Given the description of an element on the screen output the (x, y) to click on. 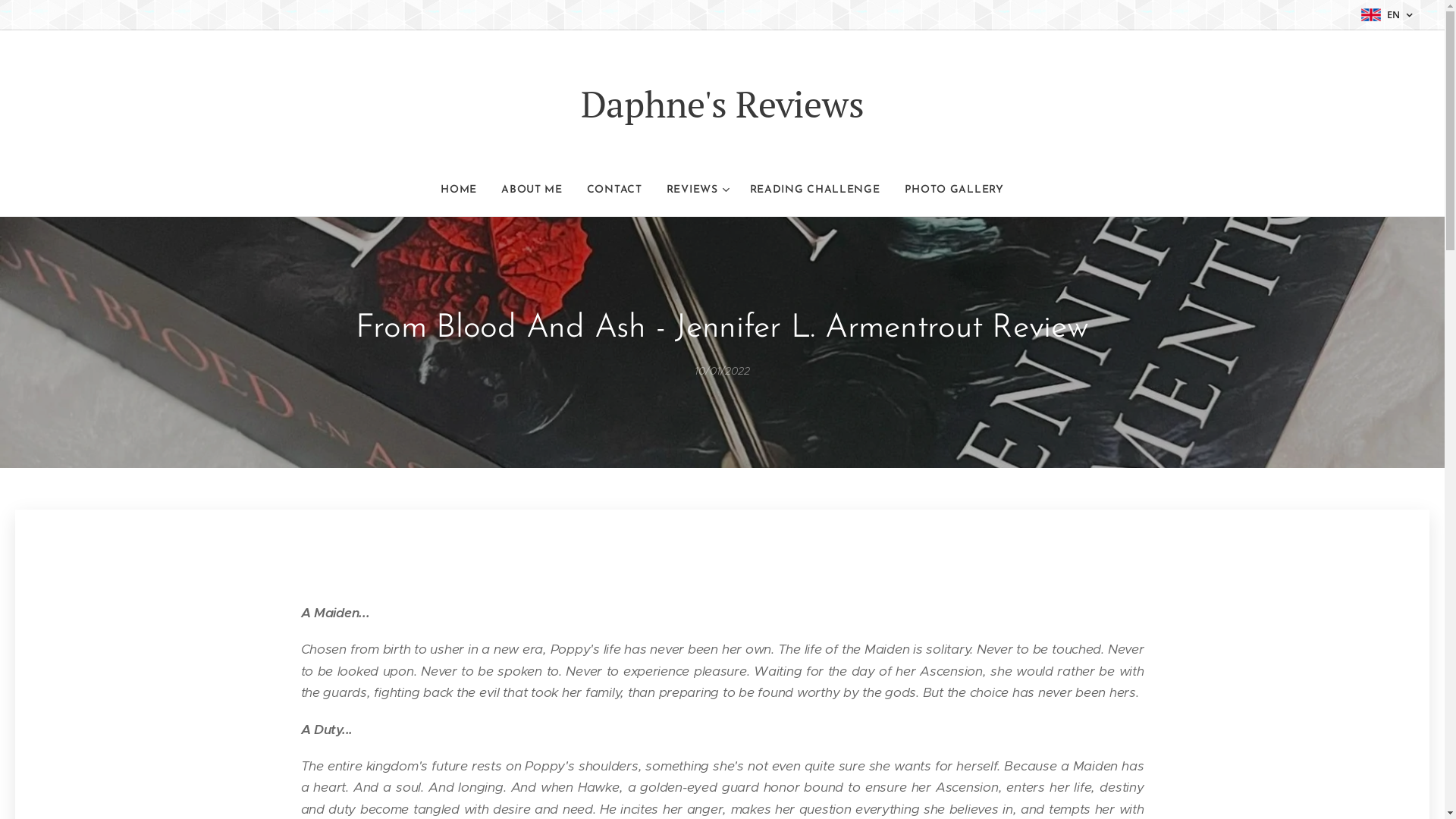
Daphne's Reviews Element type: text (721, 104)
HOME Element type: text (464, 190)
PHOTO GALLERY Element type: text (948, 190)
CONTACT Element type: text (614, 190)
ABOUT ME Element type: text (531, 190)
REVIEWS Element type: text (695, 190)
READING CHALLENGE Element type: text (814, 190)
